Given the description of an element on the screen output the (x, y) to click on. 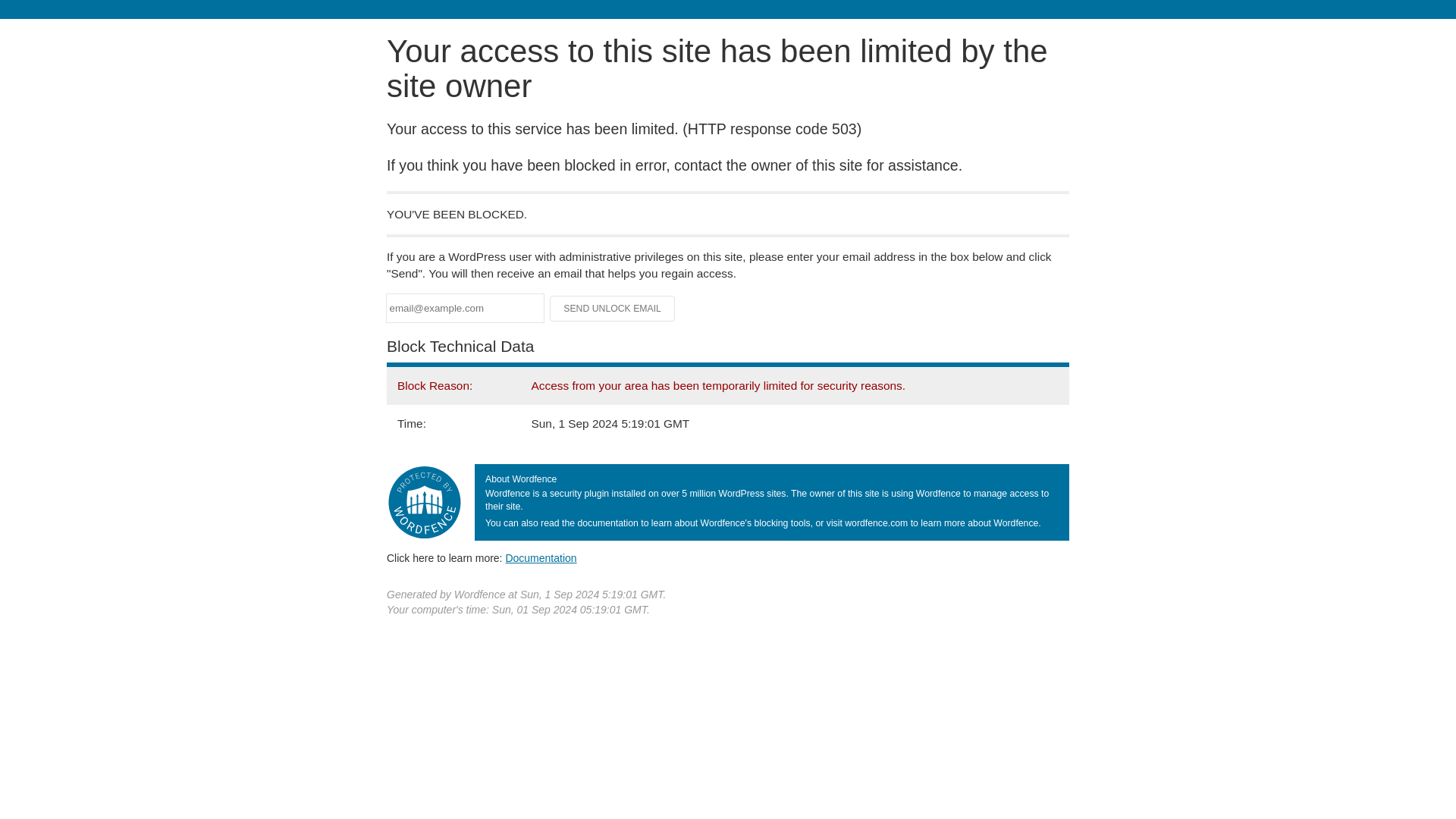
Send Unlock Email (612, 308)
Documentation (540, 558)
Send Unlock Email (612, 308)
